Given the description of an element on the screen output the (x, y) to click on. 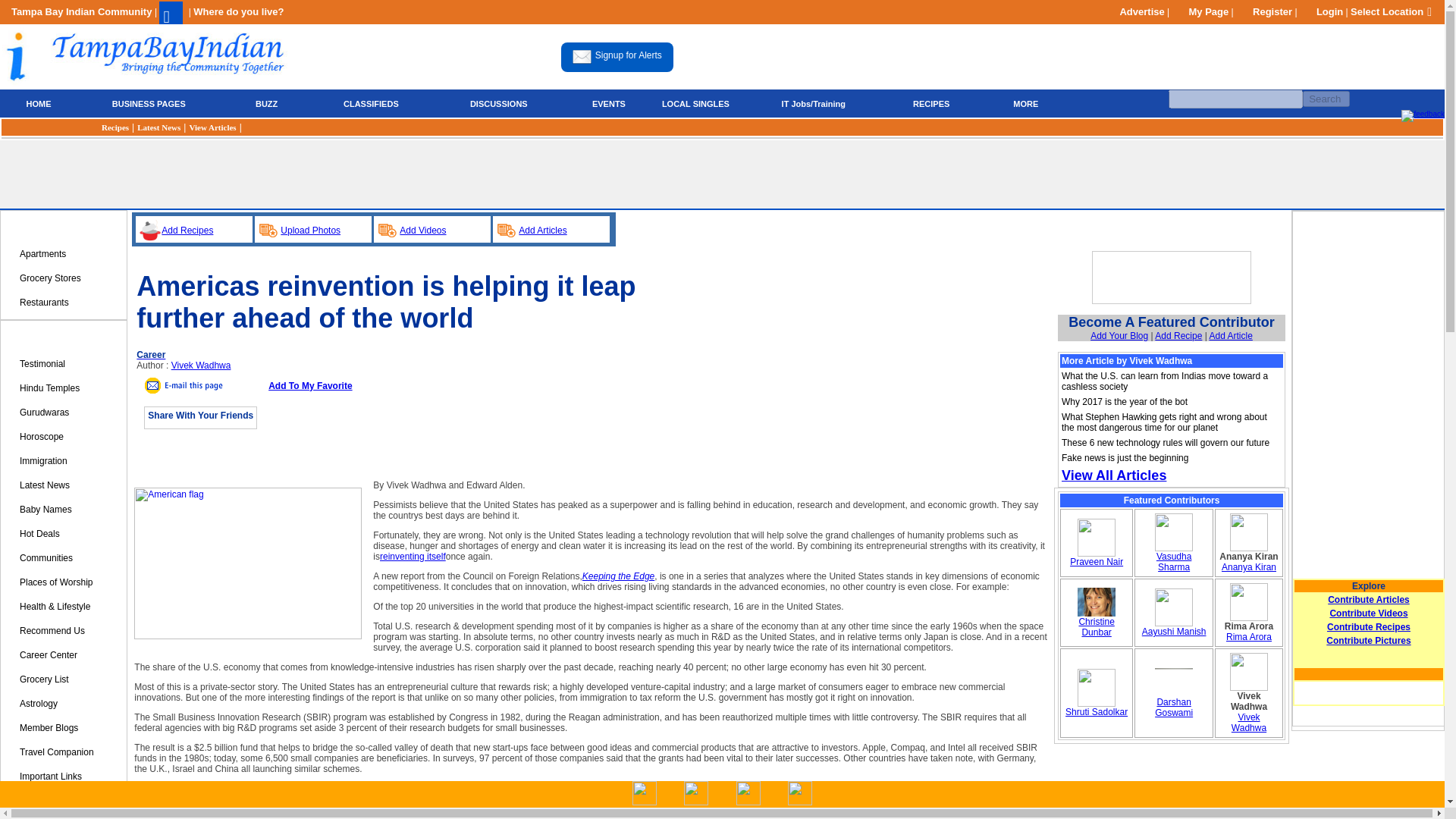
Tampa Bay Indian Discussions (498, 102)
Tampa Bay Recipes (115, 126)
Tampa Bay Indian classifieds (370, 102)
Tampa Bay More (1026, 103)
Tampa Bay Indian Community Website (82, 11)
Tampa Bay Indian Food Recipes (931, 103)
Select Location (1391, 11)
Tampa Bay Indian Community (82, 11)
Register (1264, 11)
Login (1321, 11)
